Given the description of an element on the screen output the (x, y) to click on. 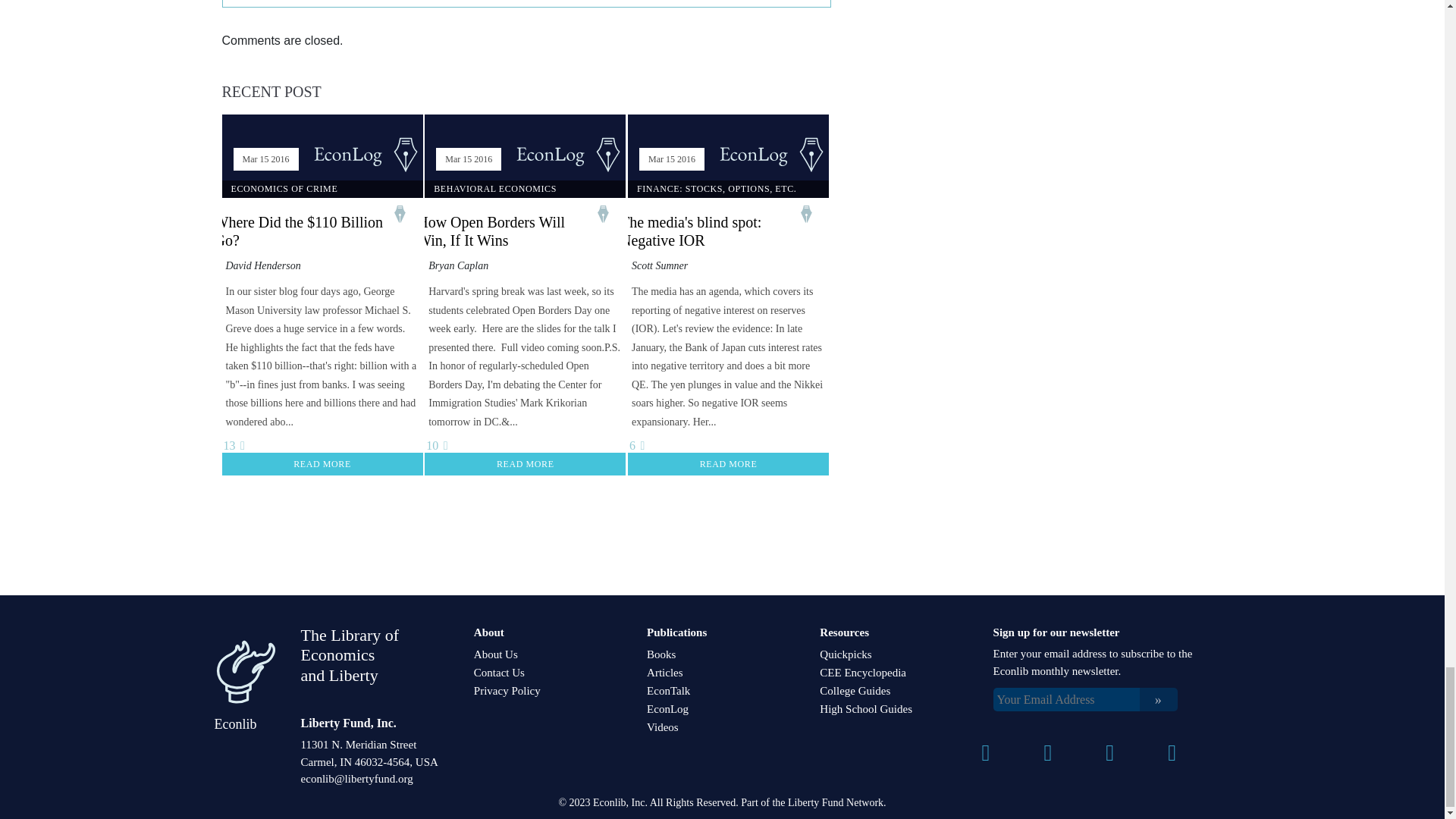
Scott Sumner (659, 265)
Bryan Caplan (457, 265)
David Henderson (263, 265)
